Given the description of an element on the screen output the (x, y) to click on. 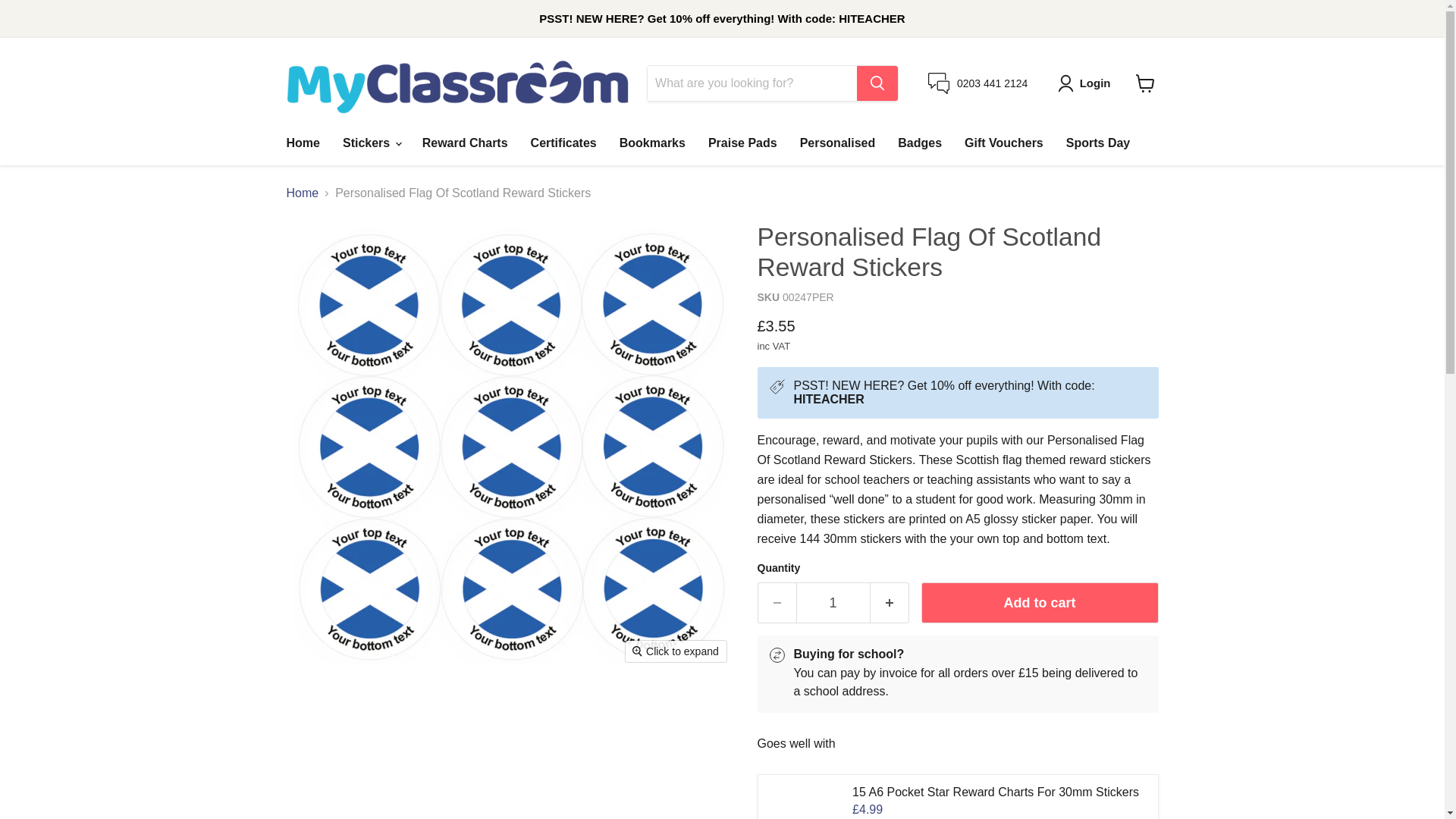
Login (1087, 83)
View cart (1144, 82)
Home (302, 142)
1 (833, 603)
0203 441 2124 (977, 83)
